Given the description of an element on the screen output the (x, y) to click on. 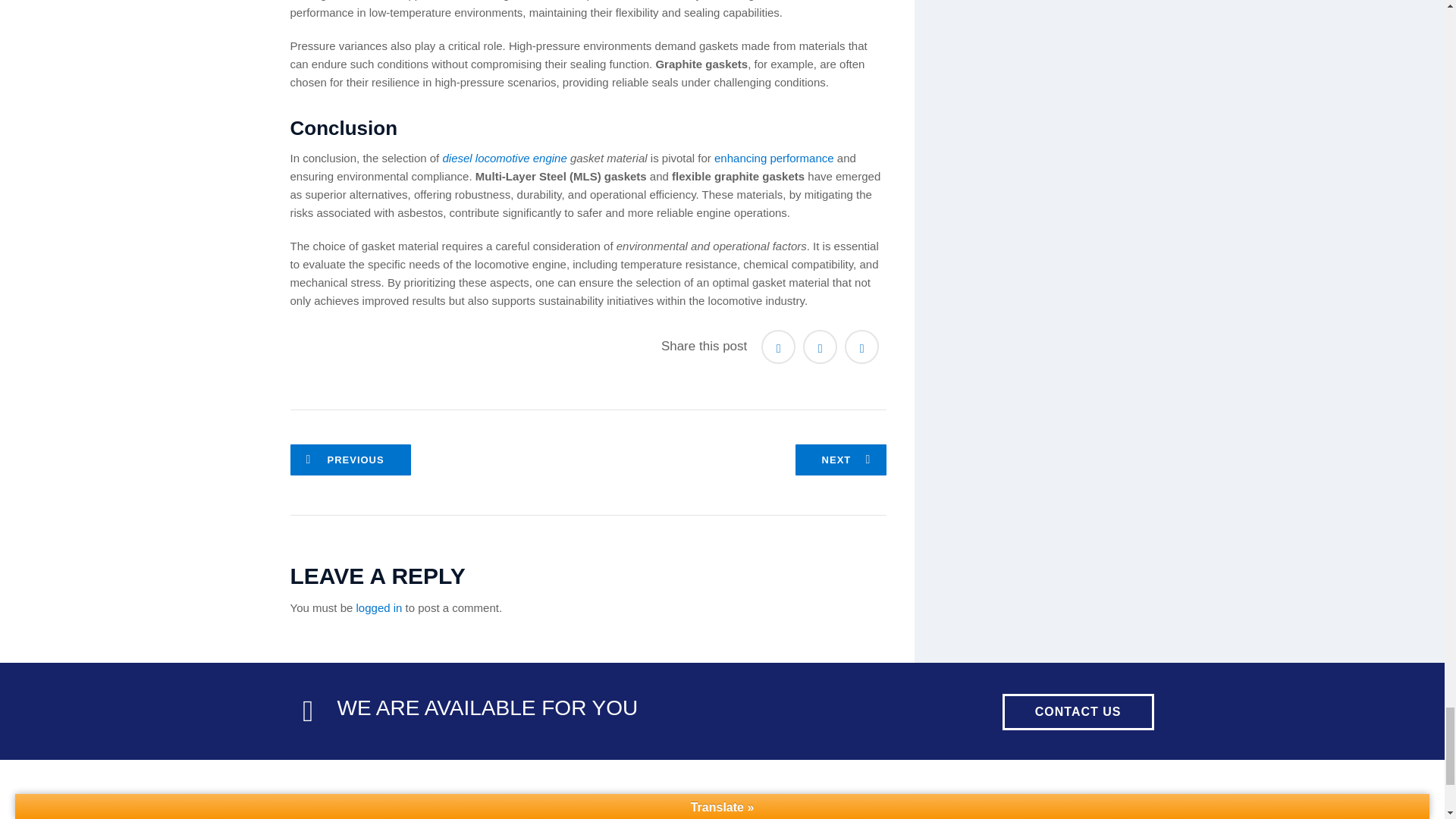
PREVIOUS (349, 459)
The Best Vintage ALCO Parts: Your Ultimate Locomotive Guide (349, 459)
diesel locomotive engine (504, 157)
The Best Fuel Filters for Trains for Superior Performance (840, 459)
enhancing performance (774, 157)
logged in (379, 607)
NEXT (840, 459)
